Given the description of an element on the screen output the (x, y) to click on. 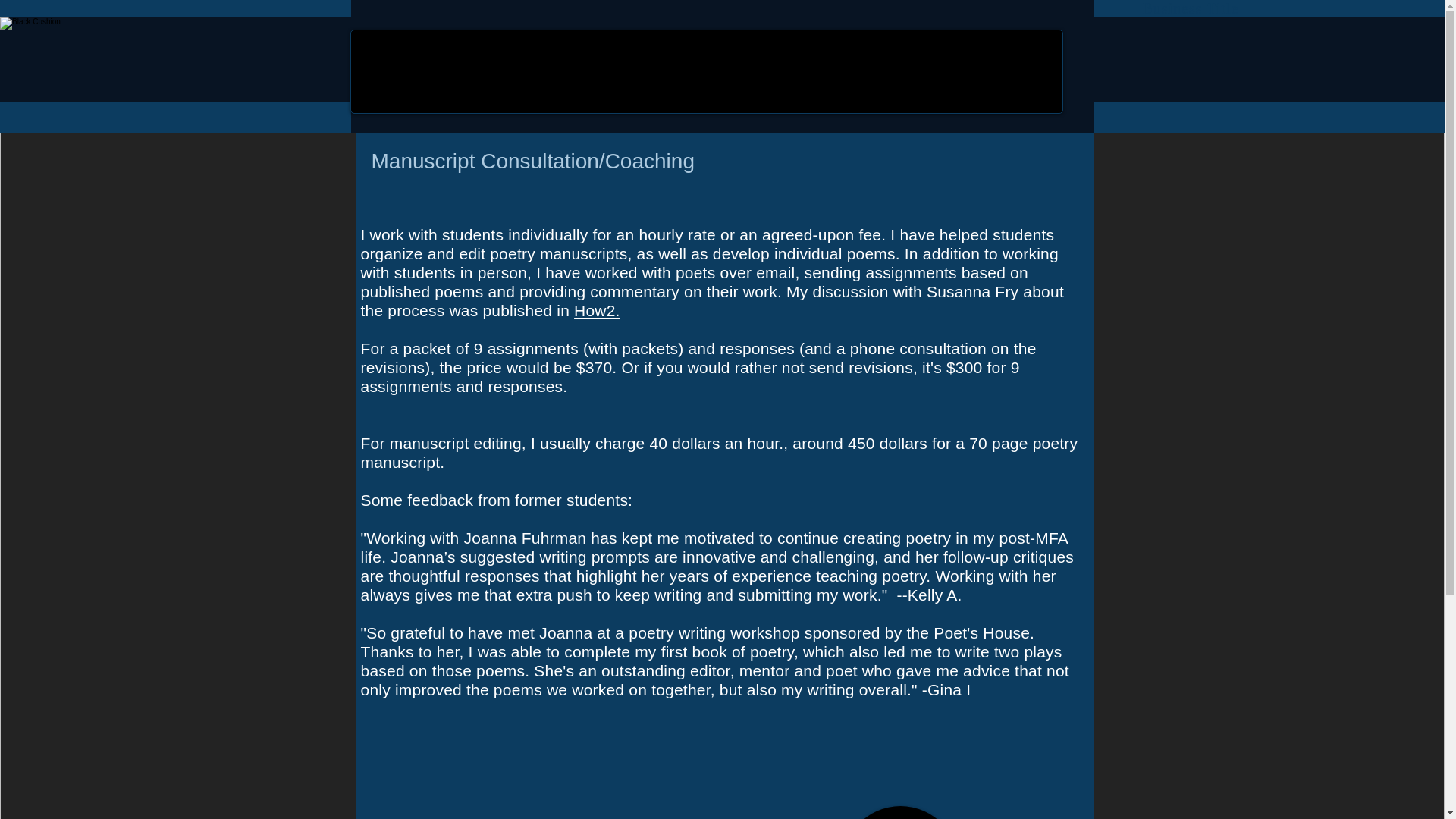
How2. (596, 310)
